Given the description of an element on the screen output the (x, y) to click on. 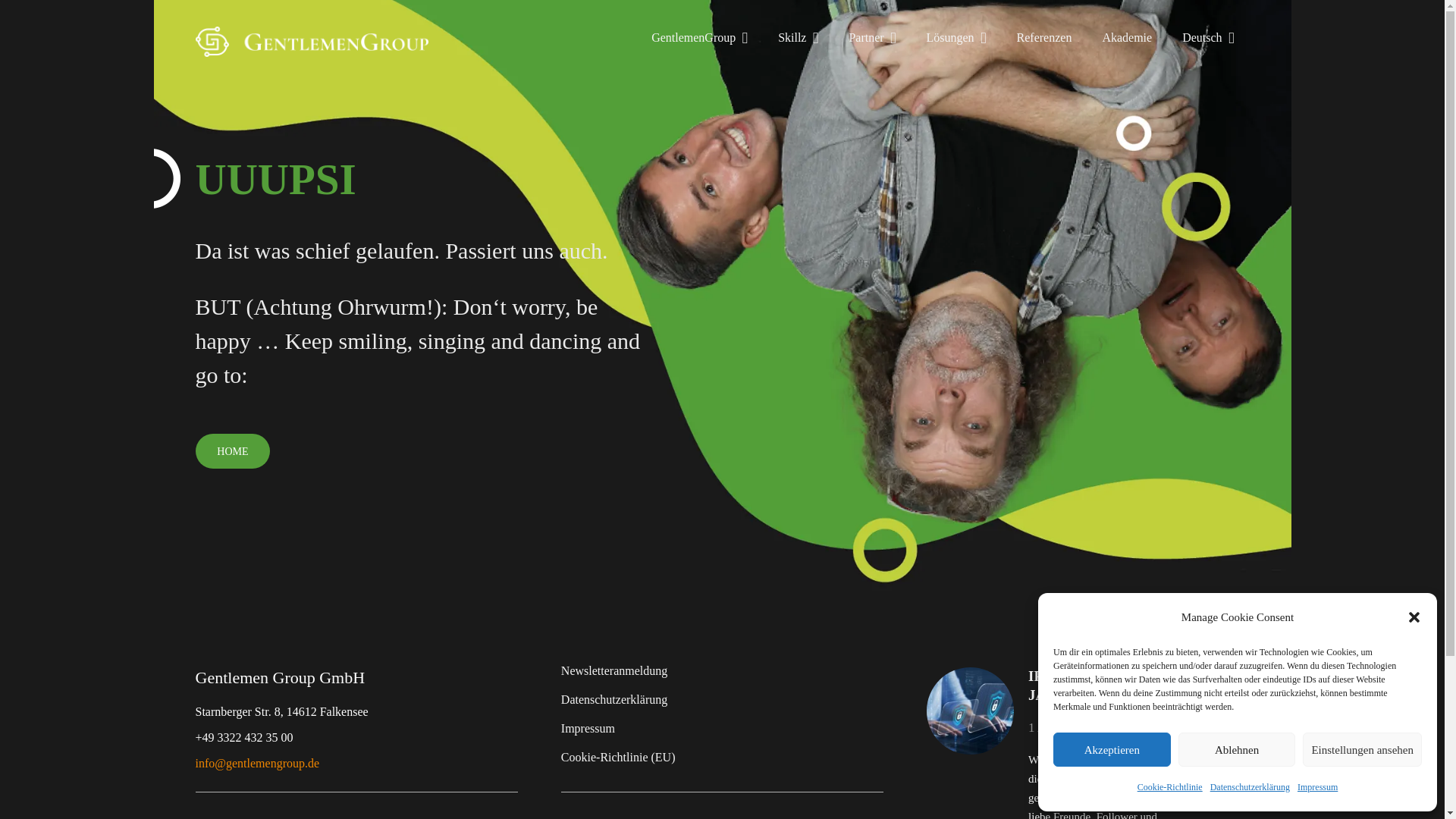
GentlemenGroup (699, 37)
Ablehnen (1236, 749)
Skillz (797, 37)
GentlemenGroup (232, 450)
Partner (871, 37)
Akzeptieren (1111, 749)
Cookie-Richtlinie (1169, 786)
Impressum (1317, 786)
Einstellungen ansehen (1362, 749)
